Given the description of an element on the screen output the (x, y) to click on. 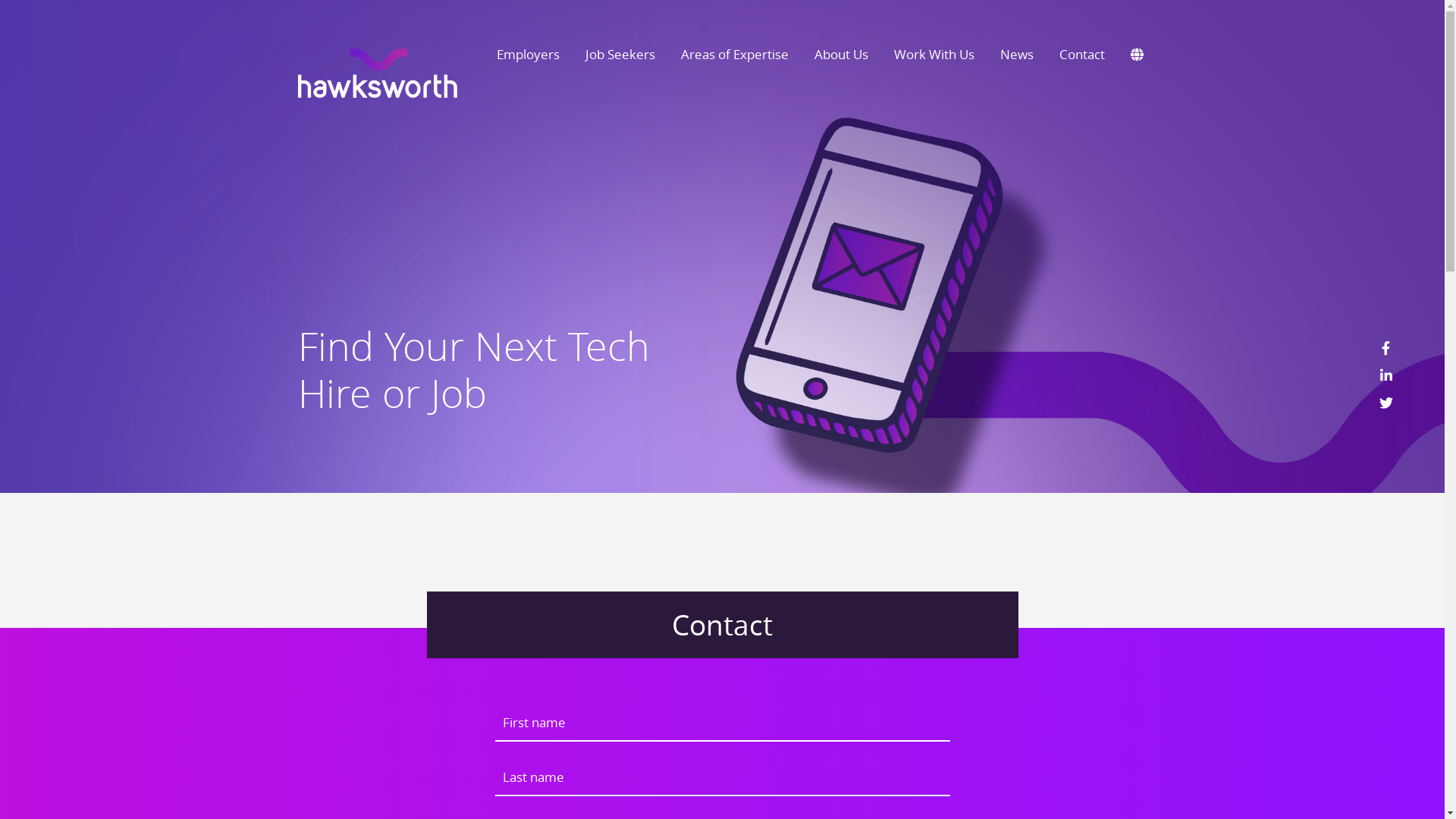
Employers Element type: text (528, 54)
News Element type: text (1016, 54)
Job Seekers Element type: text (619, 54)
Contact Element type: text (1082, 54)
About Us Element type: text (840, 54)
Work With Us Element type: text (933, 54)
Areas of Expertise Element type: text (733, 54)
